Given the description of an element on the screen output the (x, y) to click on. 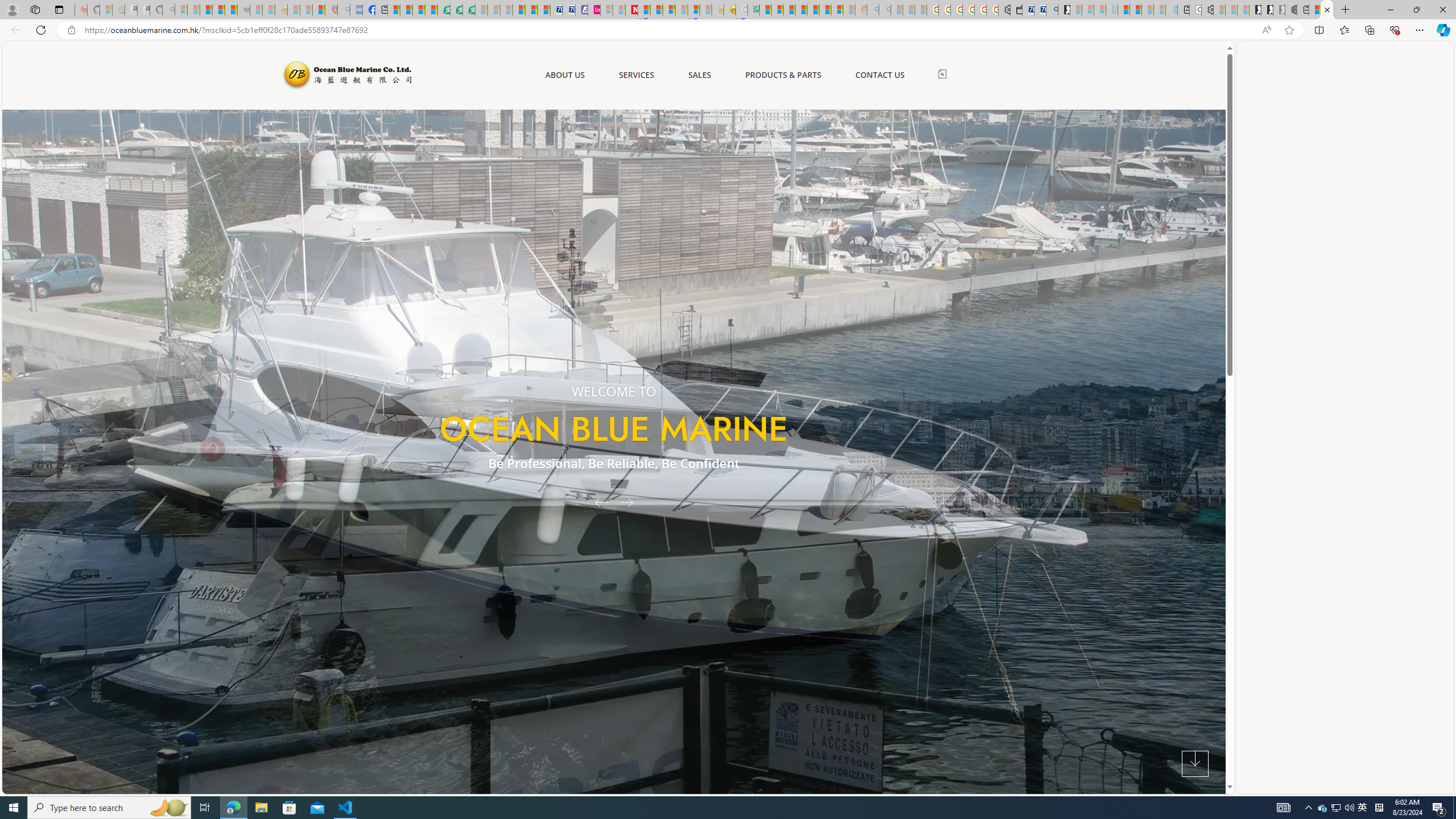
CONTACT US (879, 75)
New Report Confirms 2023 Was Record Hot | Watch (230, 9)
